Given the description of an element on the screen output the (x, y) to click on. 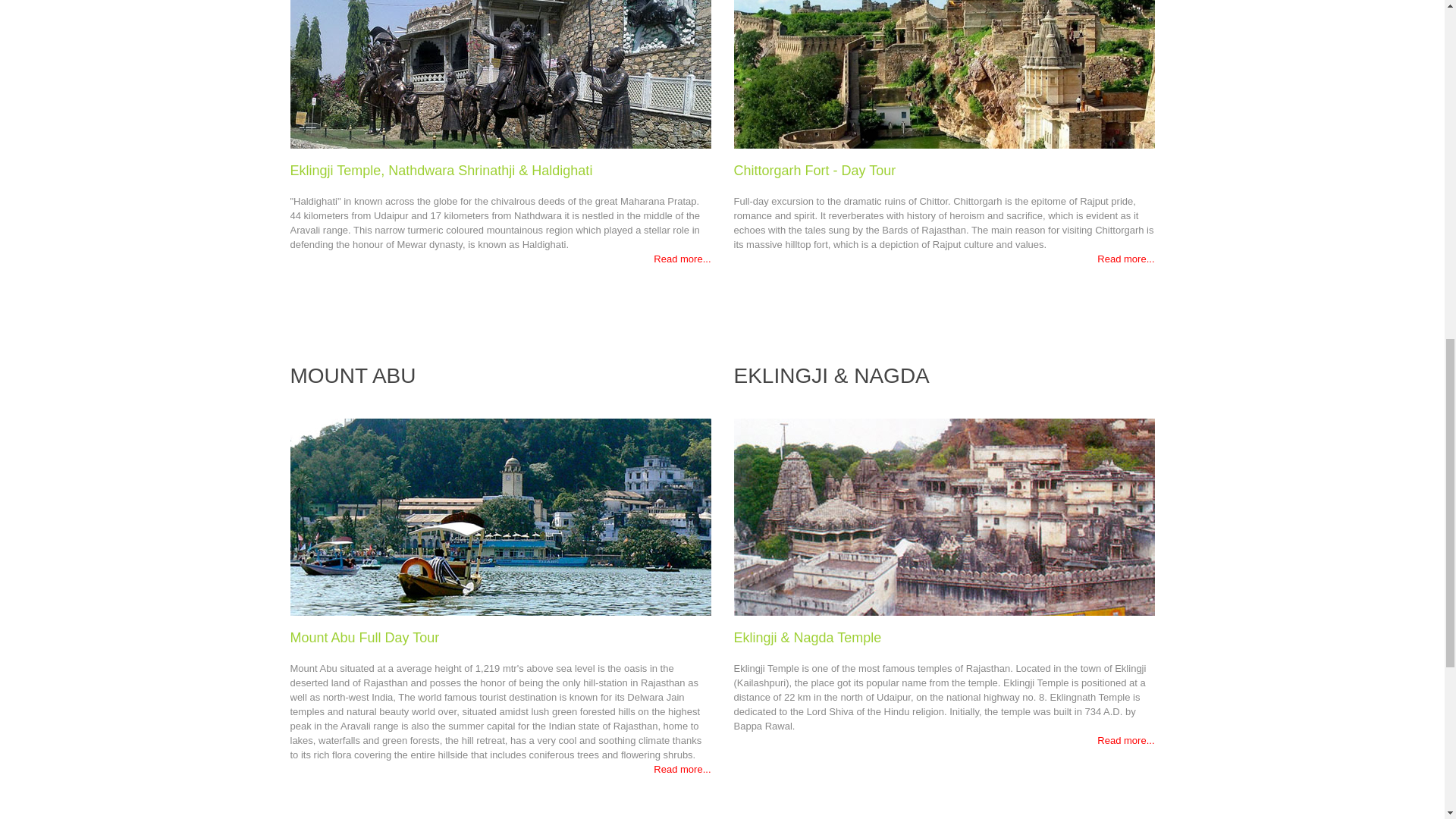
Read more... (681, 258)
Read more... (1125, 740)
Read more... (1125, 258)
company (943, 74)
about us (499, 516)
company (943, 516)
about us (499, 74)
Read more... (681, 768)
